Given the description of an element on the screen output the (x, y) to click on. 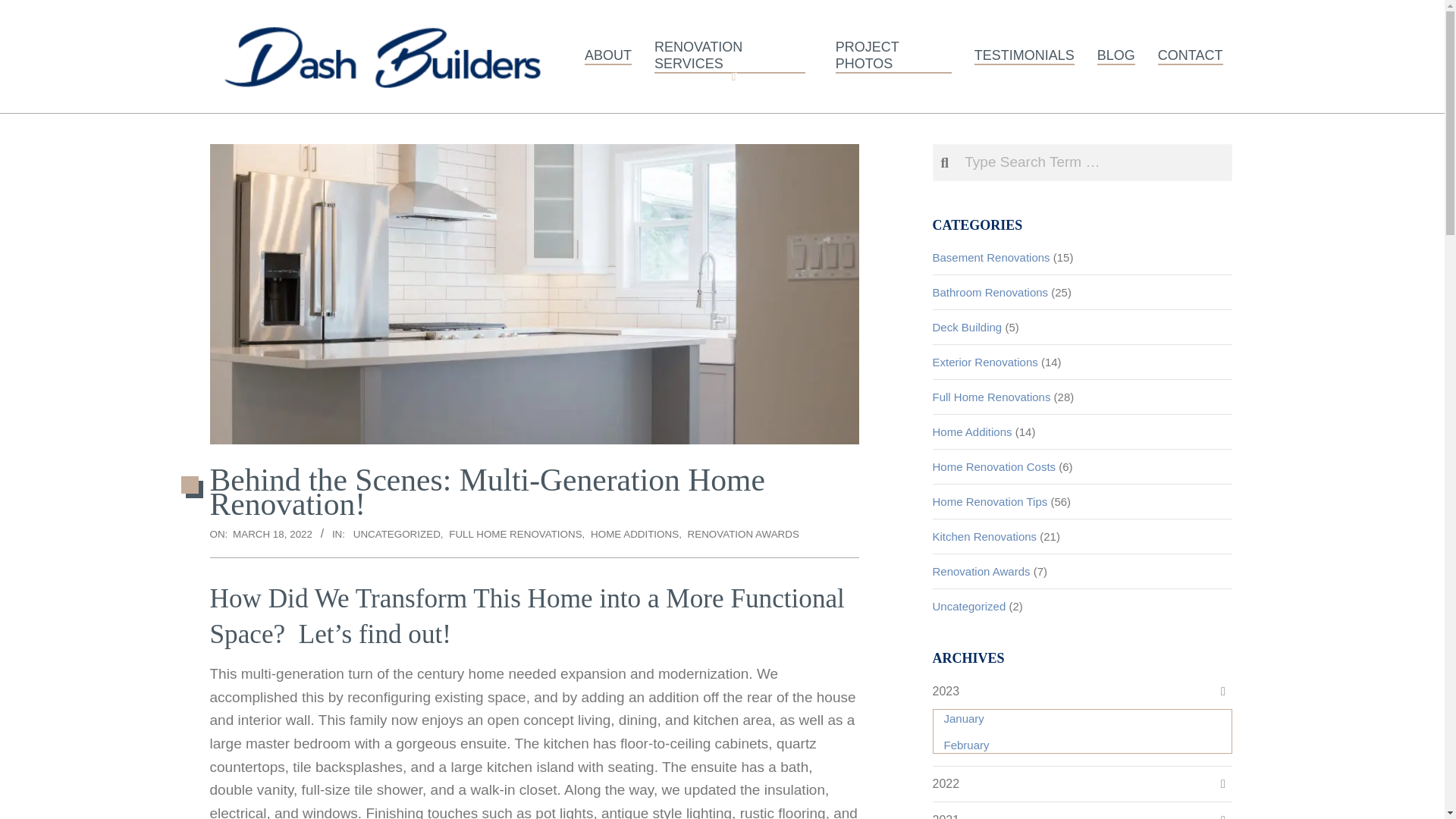
Friday, March 18, 2022, 12:38 pm (272, 533)
Kitchen Renovations (984, 535)
Bathroom Renovations (990, 291)
January (1087, 717)
Full Home Renovations (992, 396)
Uncategorized (969, 605)
RENOVATION SERVICES (733, 56)
Blog - Basement Renovations Winnipeg - Dash Builders (1116, 56)
FULL HOME RENOVATIONS (514, 533)
About - Home Renovations Winnipeg - Dash Builders (608, 56)
CONTACT (1190, 56)
PROJECT PHOTOS (893, 56)
